Given the description of an element on the screen output the (x, y) to click on. 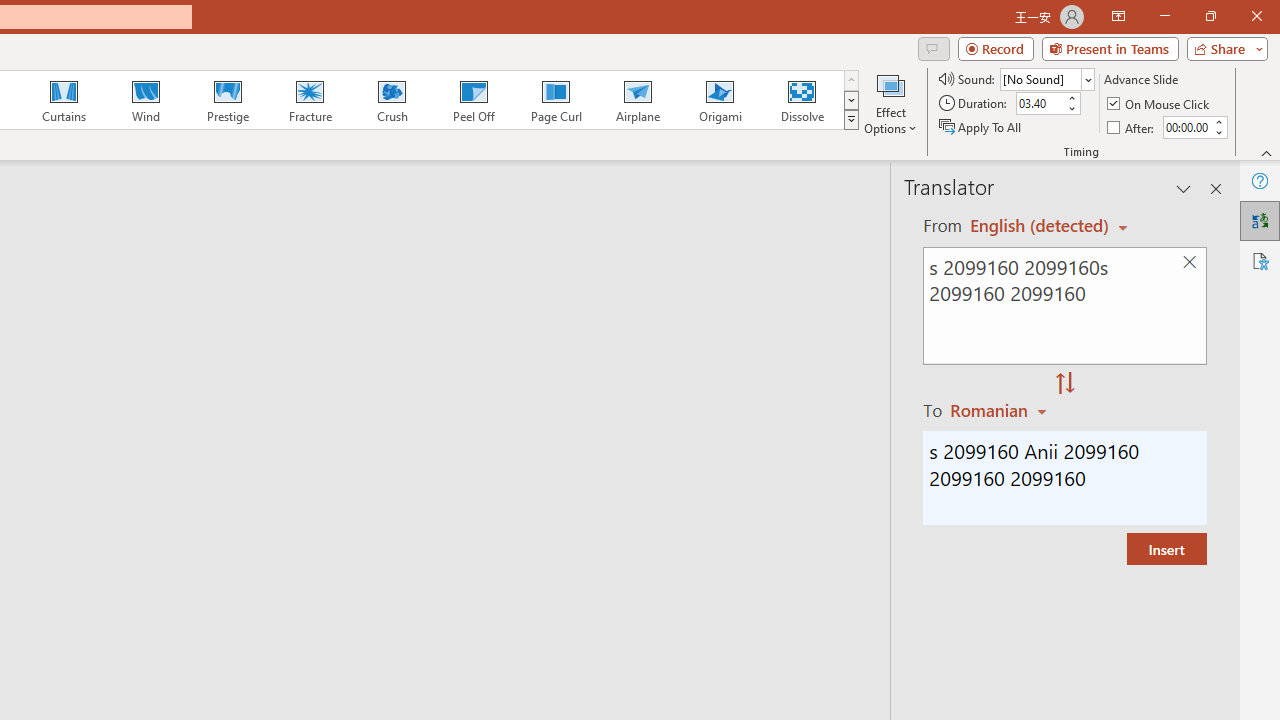
Airplane (637, 100)
